Given the description of an element on the screen output the (x, y) to click on. 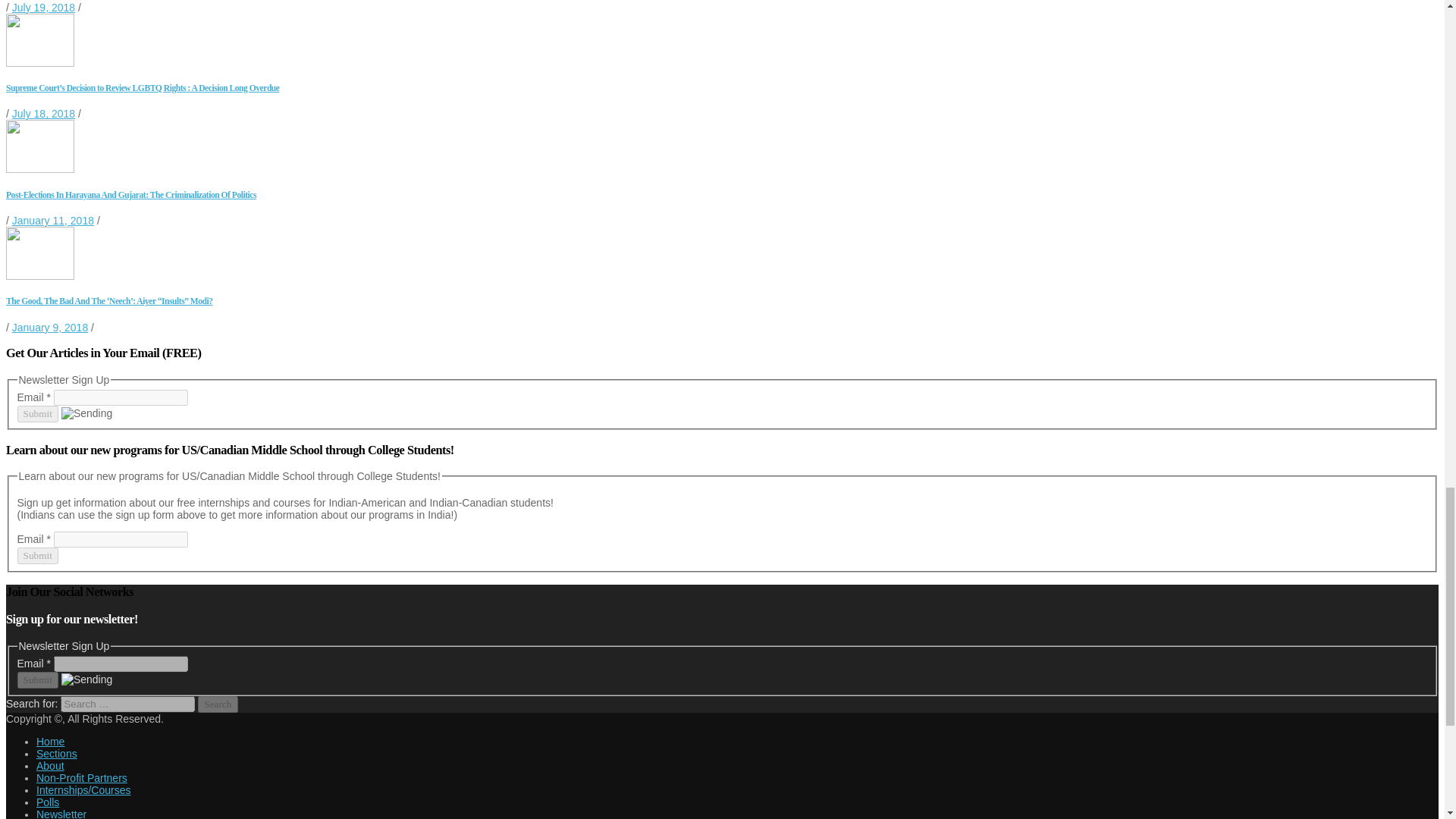
Search (217, 704)
Search (217, 704)
Submit (37, 679)
Submit (37, 413)
